Given the description of an element on the screen output the (x, y) to click on. 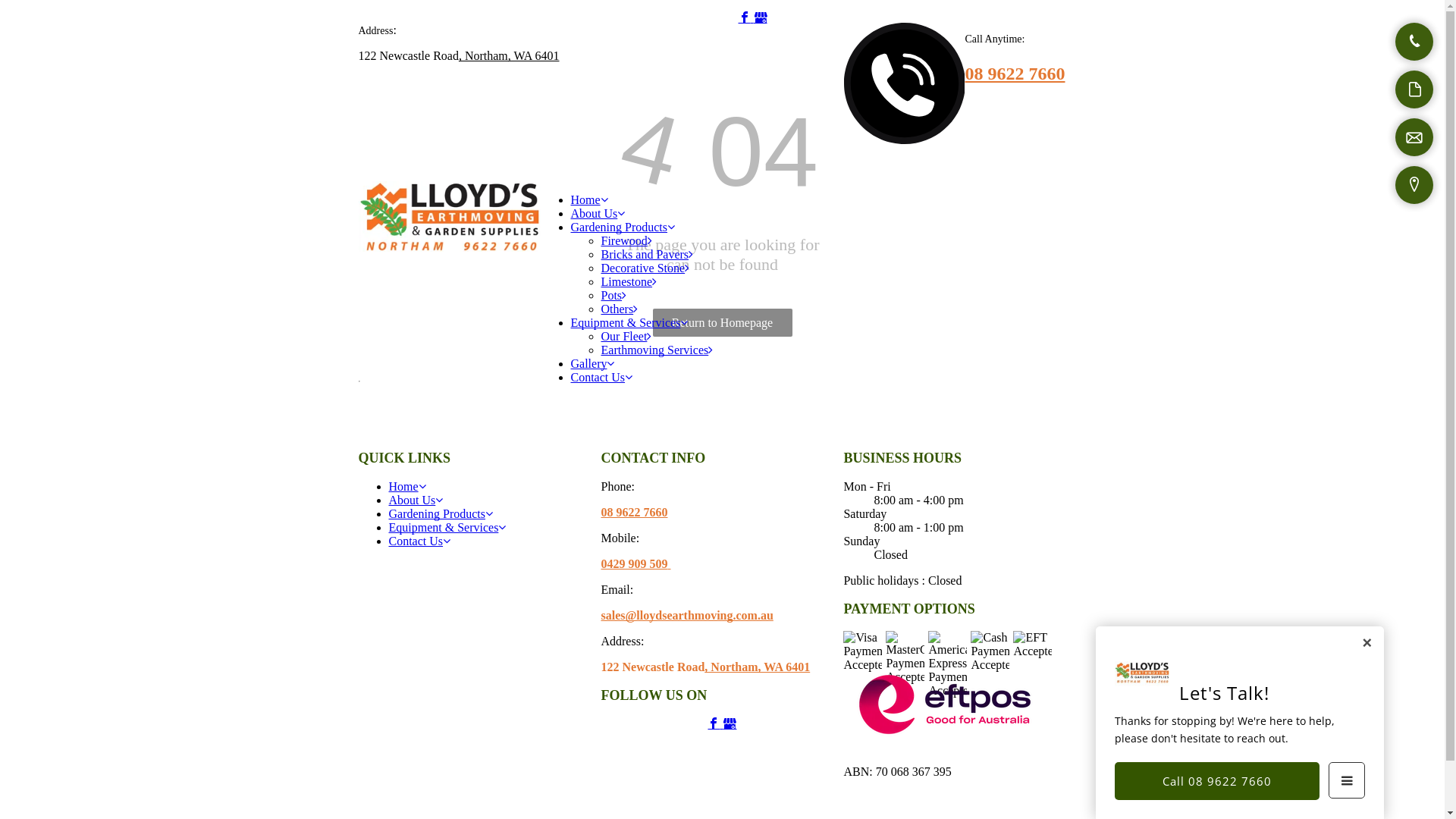
08 9622 7660 Element type: text (633, 511)
, Northam, WA 6401 Element type: text (756, 666)
Limestone Element type: text (628, 281)
Earthmoving Services Element type: text (656, 349)
Home Element type: text (588, 199)
Bricks and Pavers Element type: text (646, 253)
0429 909 509 Element type: text (633, 563)
Equipment & Services Element type: text (446, 526)
  Element type: text (668, 563)
Call 08 9622 7660 Element type: text (1216, 781)
Contact Us Element type: text (419, 540)
, Northam, WA 6401 Element type: text (508, 55)
08 9622 7660 Element type: text (1014, 73)
Gallery Element type: text (592, 363)
About Us Element type: text (597, 213)
Decorative Stone Element type: text (644, 267)
Contact Us Element type: text (601, 376)
Return to Homepage Element type: text (721, 322)
Our Fleet Element type: text (625, 335)
Firewood Element type: text (625, 240)
Gardening Products Element type: text (622, 226)
Equipment & Services Element type: text (628, 322)
Home Element type: text (406, 486)
sales@lloydsearthmoving.com.au Element type: text (686, 614)
Gardening Products Element type: text (440, 513)
About Us Element type: text (415, 499)
Others Element type: text (618, 308)
Pots Element type: text (613, 294)
